Given the description of an element on the screen output the (x, y) to click on. 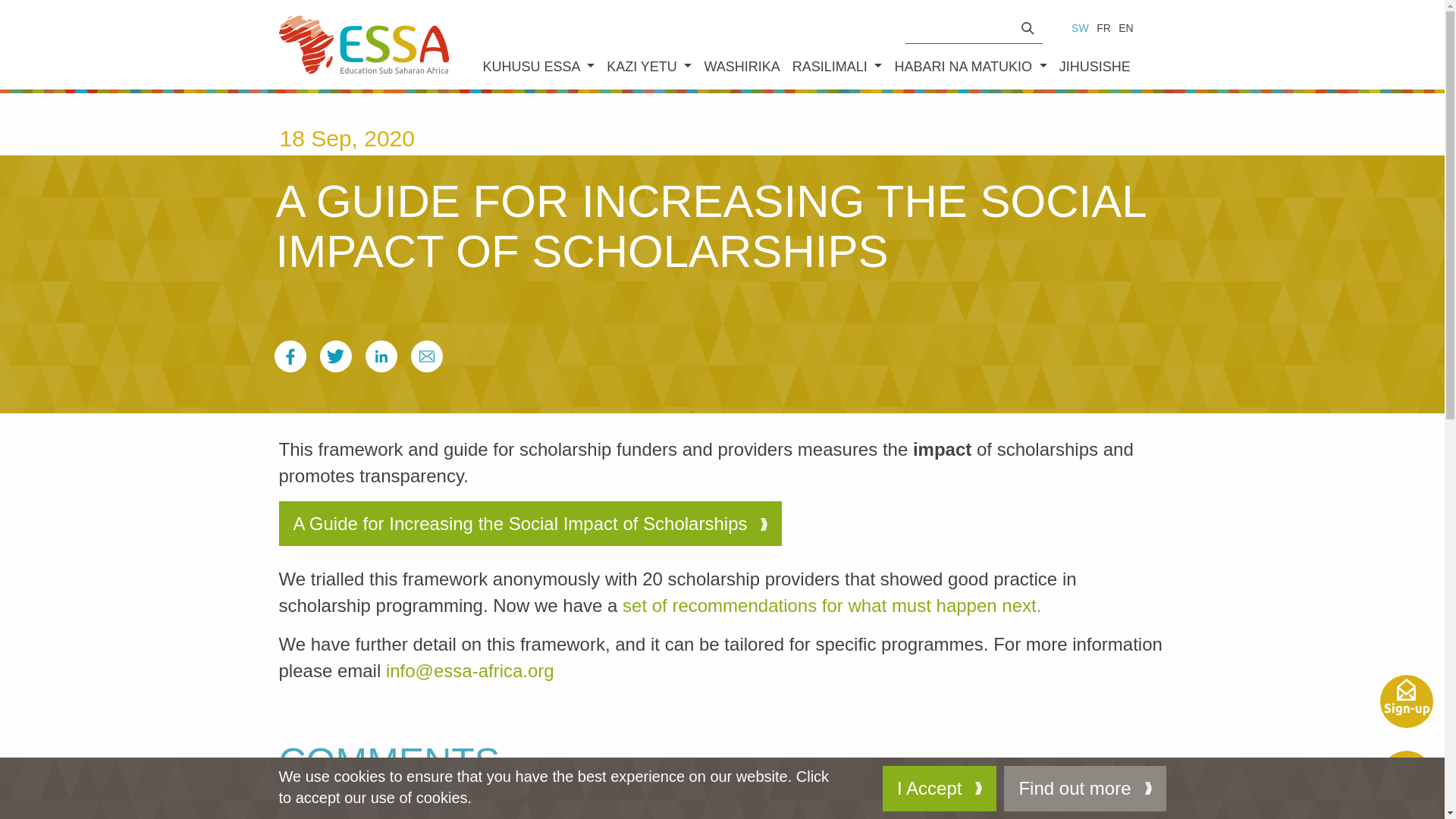
WASHIRIKA (741, 66)
I Accept (938, 788)
FR (1103, 28)
EN (1125, 28)
HABARI NA MATUKIO (970, 66)
KAZI YETU (648, 66)
Find out more (1085, 788)
RASILIMALI (837, 66)
KUHUSU ESSA (537, 66)
SW (1079, 28)
JIHUSISHE (1094, 66)
